Given the description of an element on the screen output the (x, y) to click on. 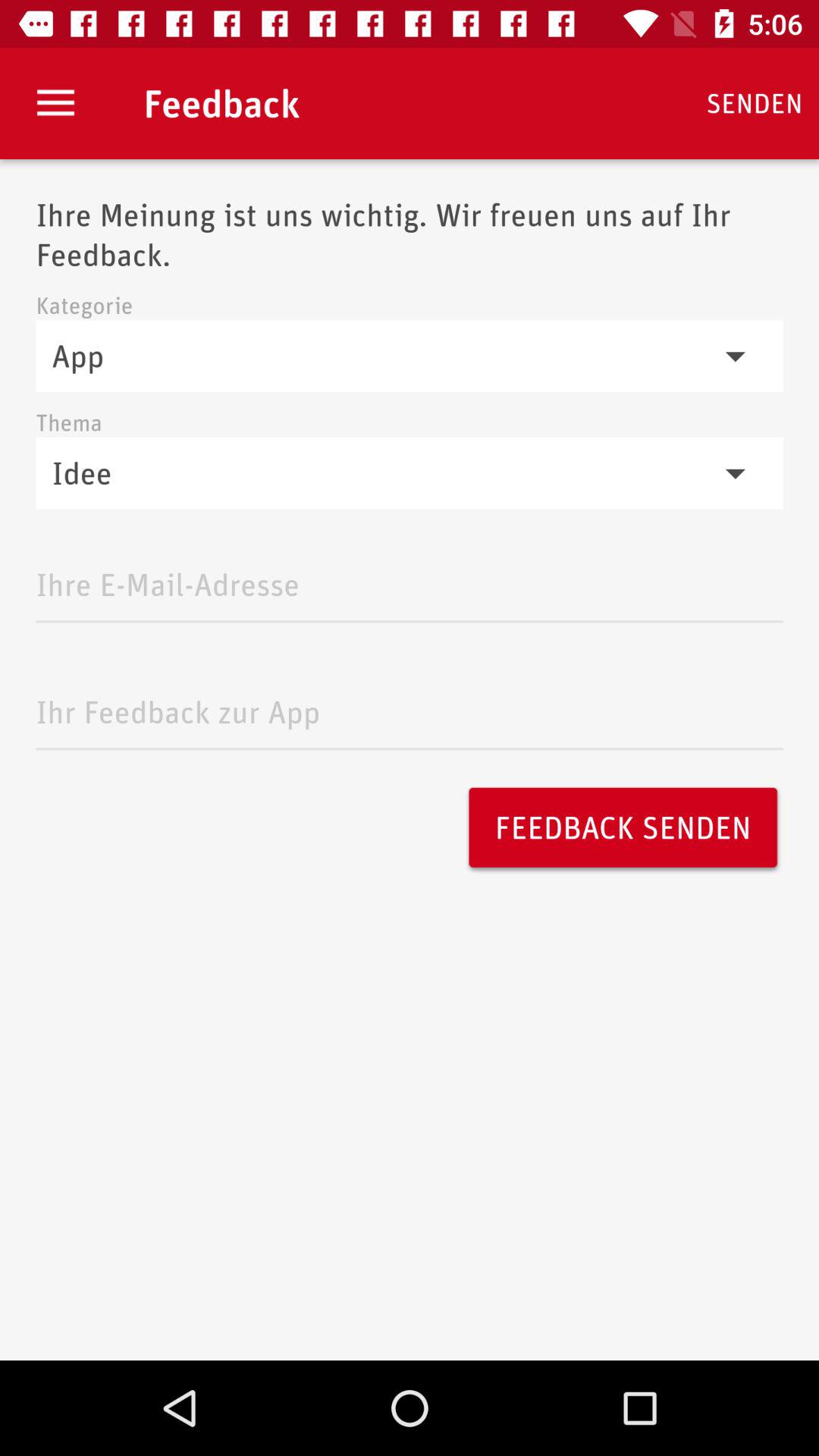
swipe to the feedback senden icon (622, 827)
